Given the description of an element on the screen output the (x, y) to click on. 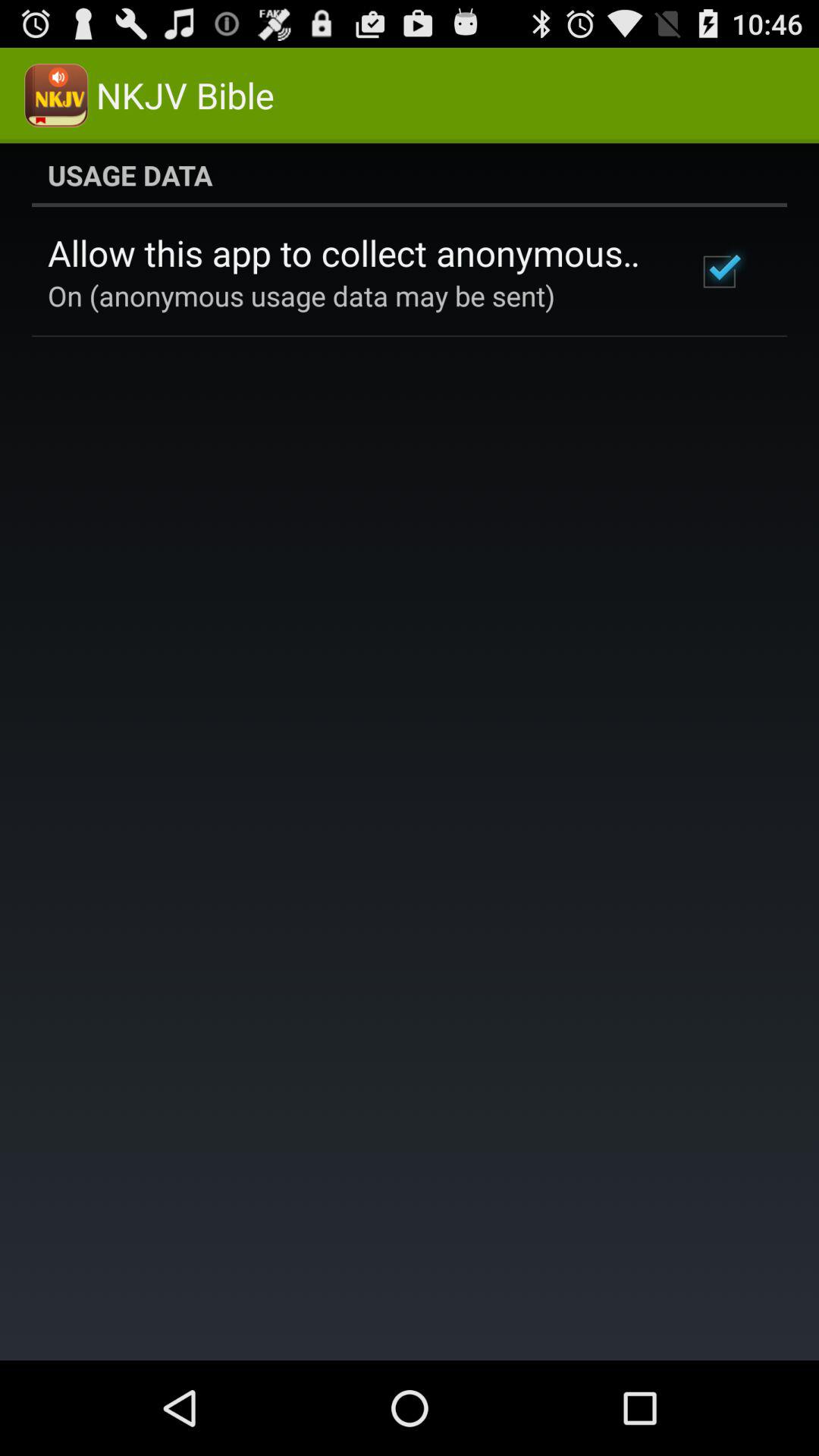
turn off the item below the usage data icon (351, 252)
